Given the description of an element on the screen output the (x, y) to click on. 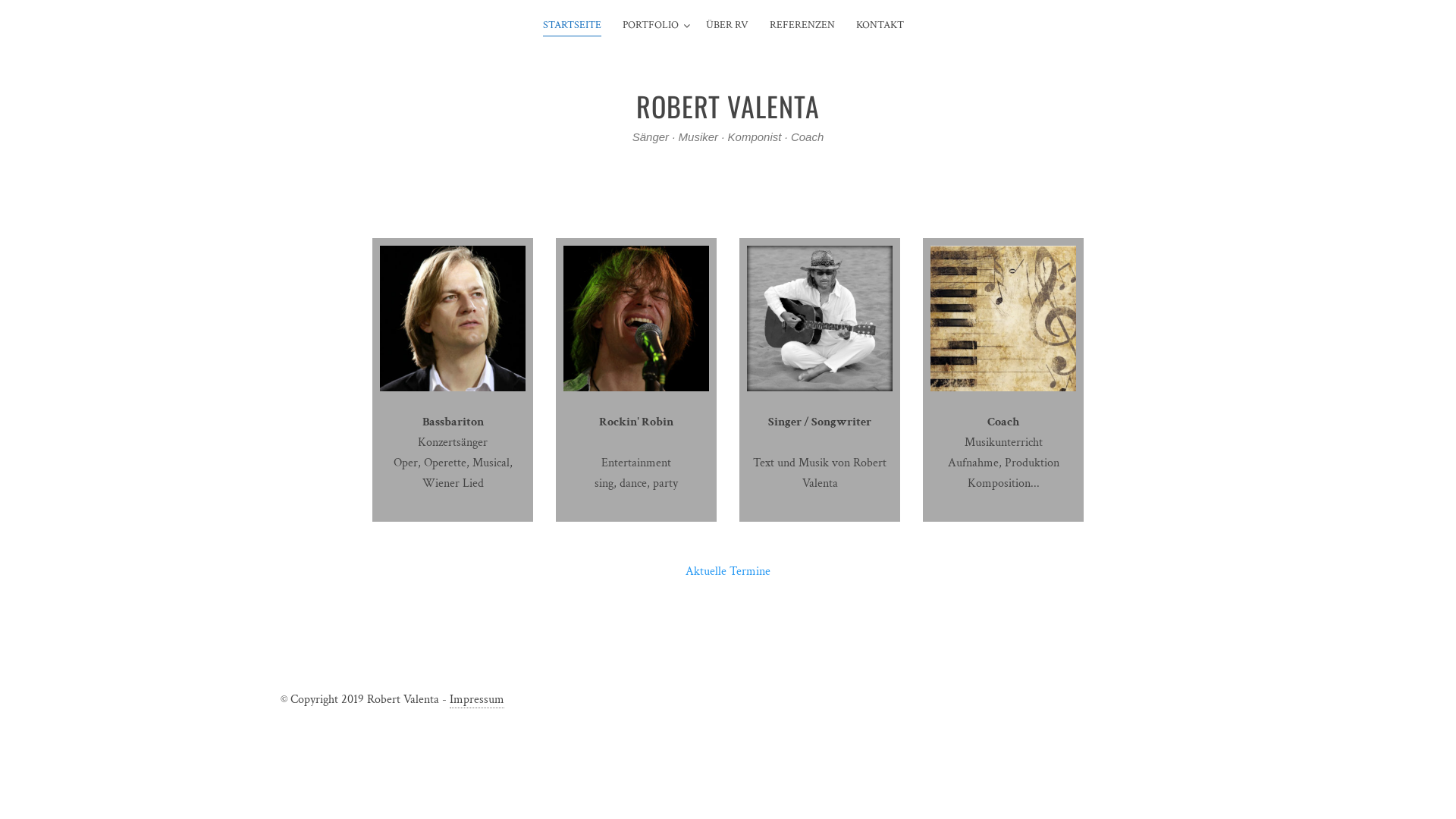
Bassbariton Element type: text (452, 421)
Singer / Songwriter Element type: text (819, 421)
Rockin' Robin Element type: text (636, 421)
REFERENZEN Element type: text (801, 25)
ROBERT VALENTA Element type: text (727, 104)
Aktuelle Termine Element type: text (727, 571)
STARTSEITE Element type: text (571, 25)
Impressum Element type: text (476, 699)
Coach Element type: text (1003, 421)
KONTAKT Element type: text (879, 25)
PORTFOLIO Element type: text (650, 25)
